Given the description of an element on the screen output the (x, y) to click on. 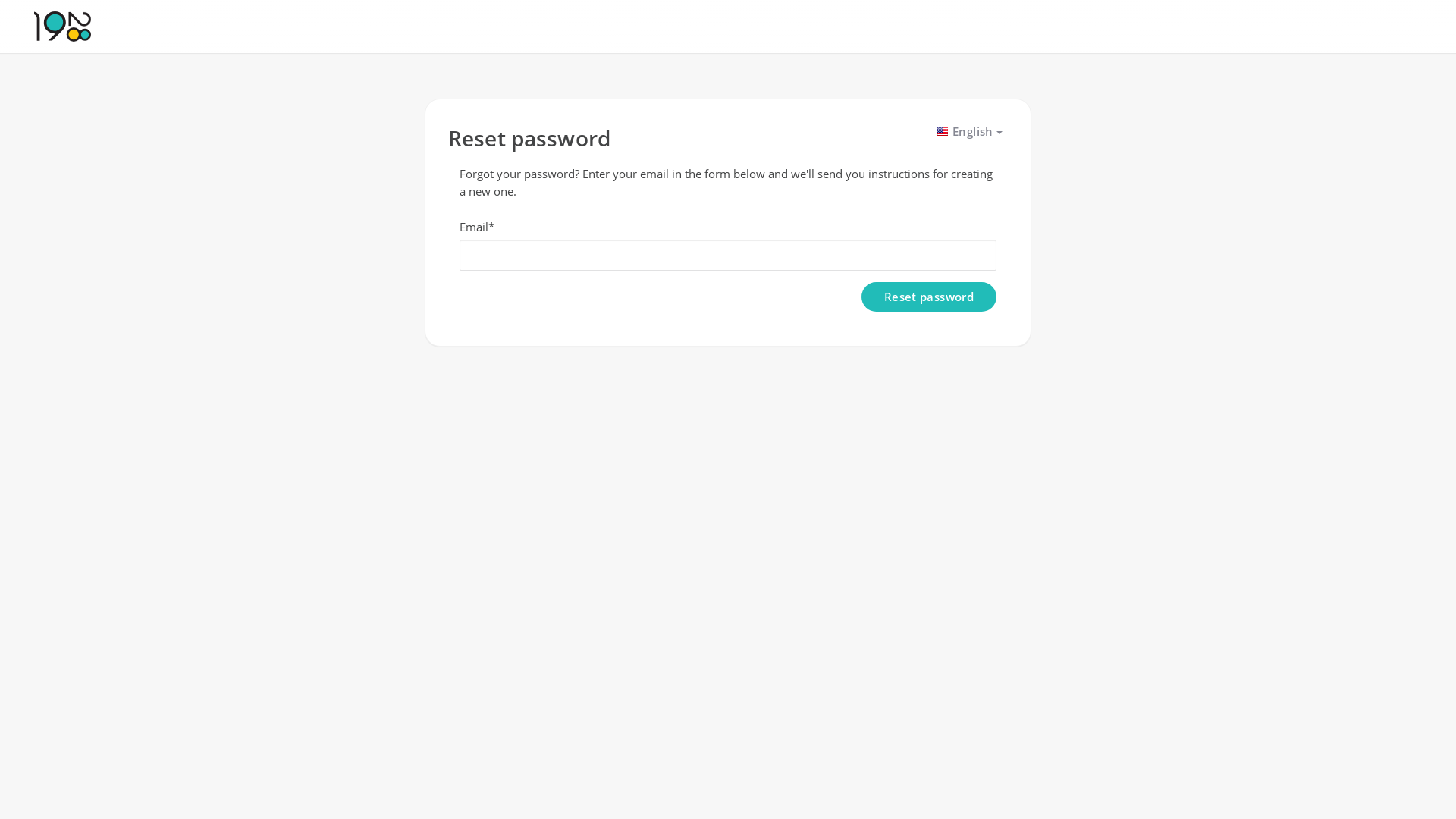
Reset password Element type: text (928, 296)
